Given the description of an element on the screen output the (x, y) to click on. 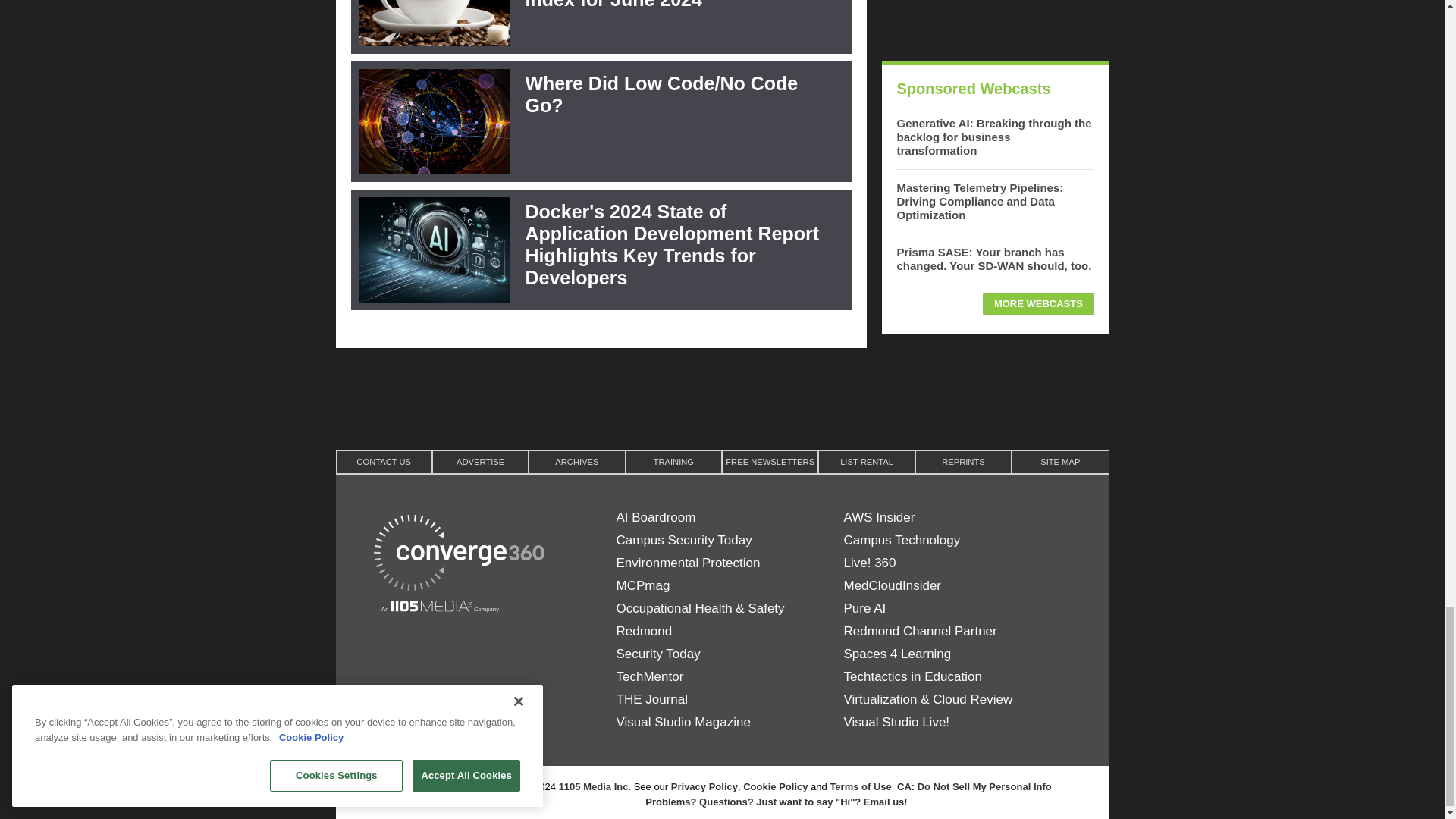
3rd party ad content (994, 22)
3rd party ad content (721, 397)
